Given the description of an element on the screen output the (x, y) to click on. 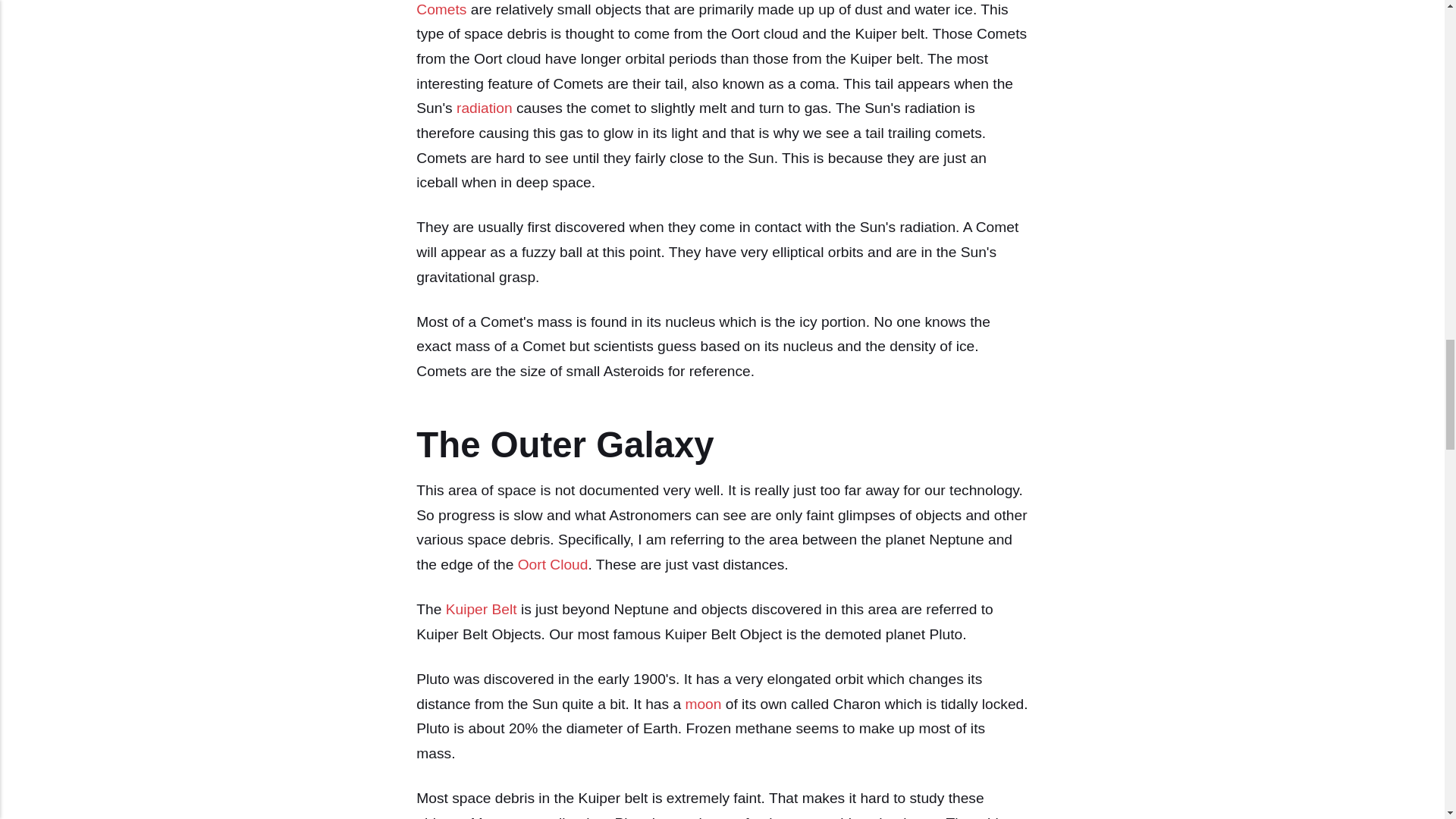
radiation (484, 107)
moon (702, 703)
Kuiper Belt (480, 609)
Comets (440, 9)
Oort Cloud (553, 564)
